Given the description of an element on the screen output the (x, y) to click on. 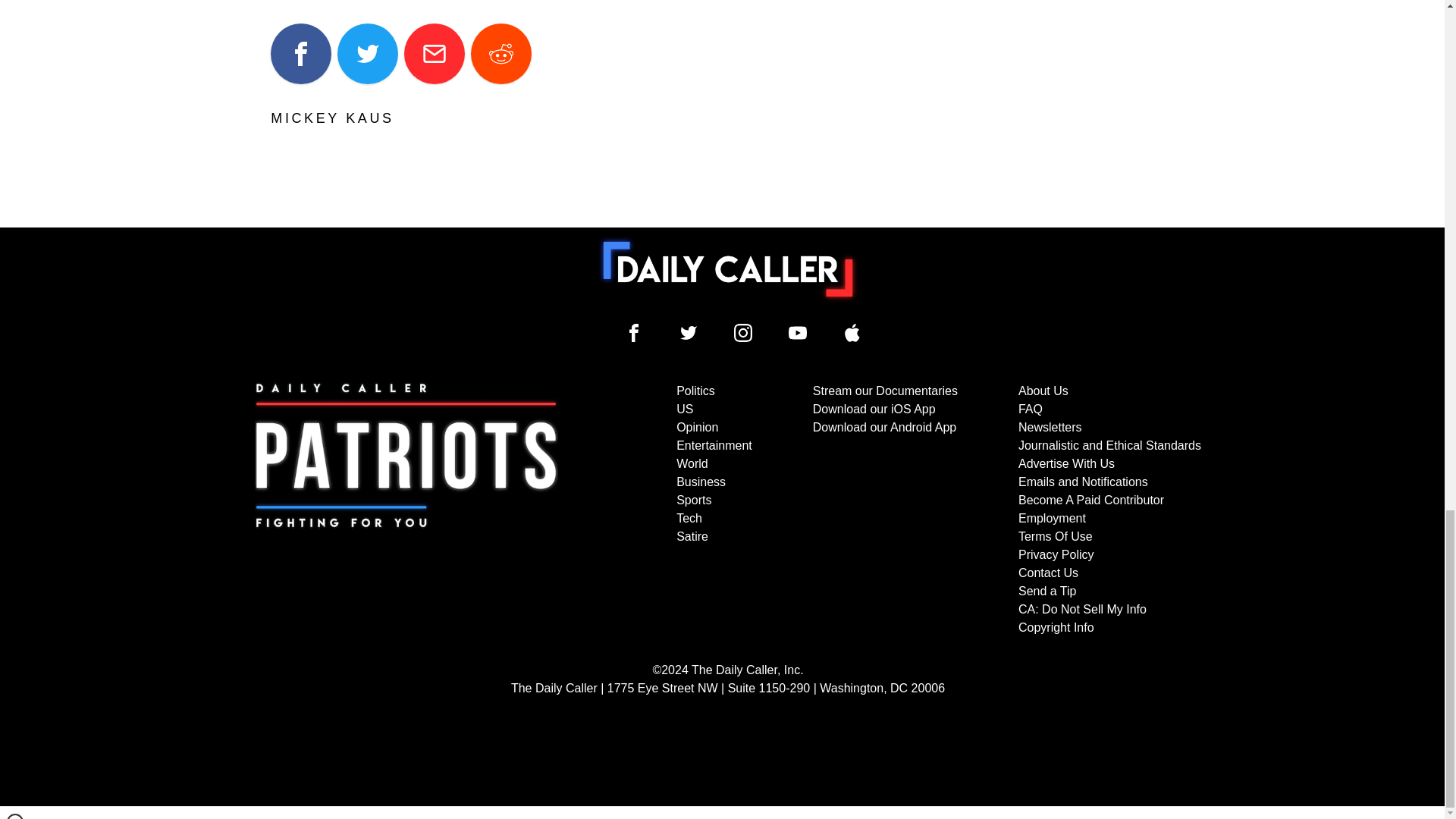
Daily Caller Instagram (742, 332)
Daily Caller Twitter (688, 332)
Subscribe to The Daily Caller (405, 509)
Daily Caller Facebook (633, 332)
Daily Caller YouTube (797, 332)
To home page (727, 268)
Daily Caller YouTube (852, 332)
